Given the description of an element on the screen output the (x, y) to click on. 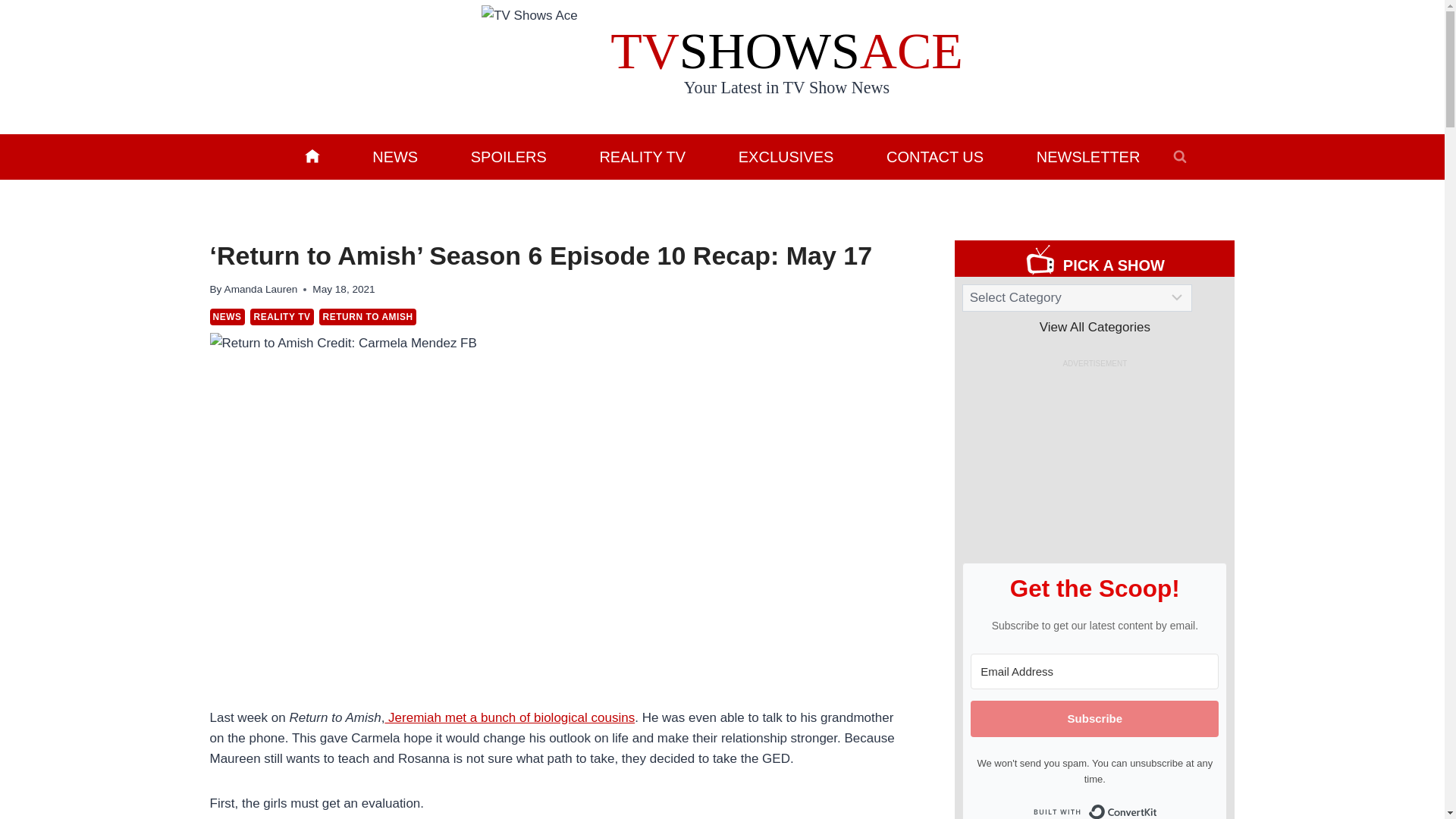
CONTACT US (935, 156)
SPOILERS (508, 156)
NEWS (395, 156)
Jeremiah met a bunch of biological cousins (509, 717)
NEWSLETTER (1088, 156)
REALITY TV (642, 156)
NEWS (226, 316)
REALITY TV (281, 316)
Amanda Lauren (261, 288)
EXCLUSIVES (785, 156)
